Given the description of an element on the screen output the (x, y) to click on. 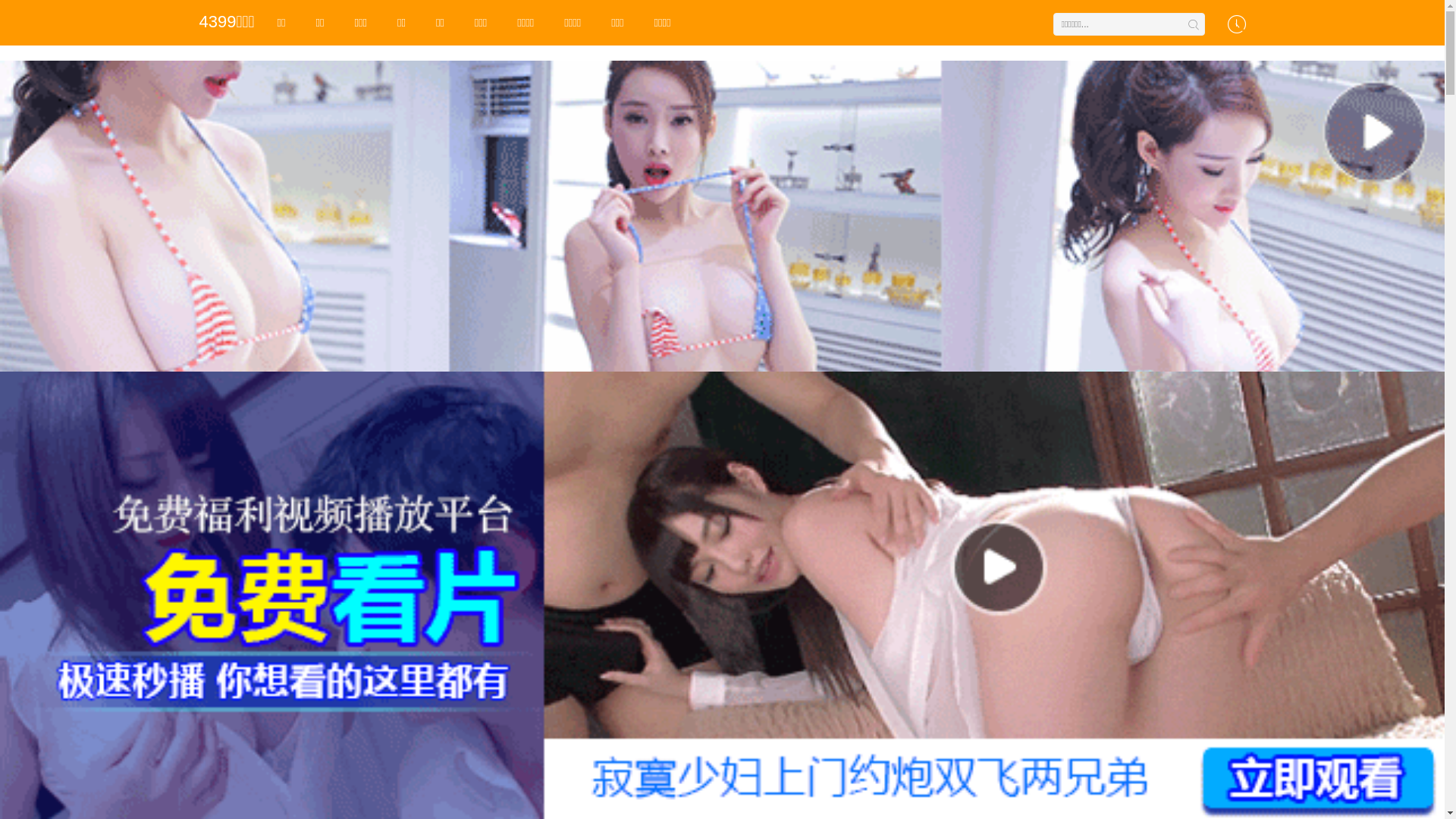
HD Element type: text (528, 654)
HD Element type: text (786, 654)
HD Element type: text (657, 654)
HD Element type: text (270, 654)
HD Element type: text (915, 654)
